Given the description of an element on the screen output the (x, y) to click on. 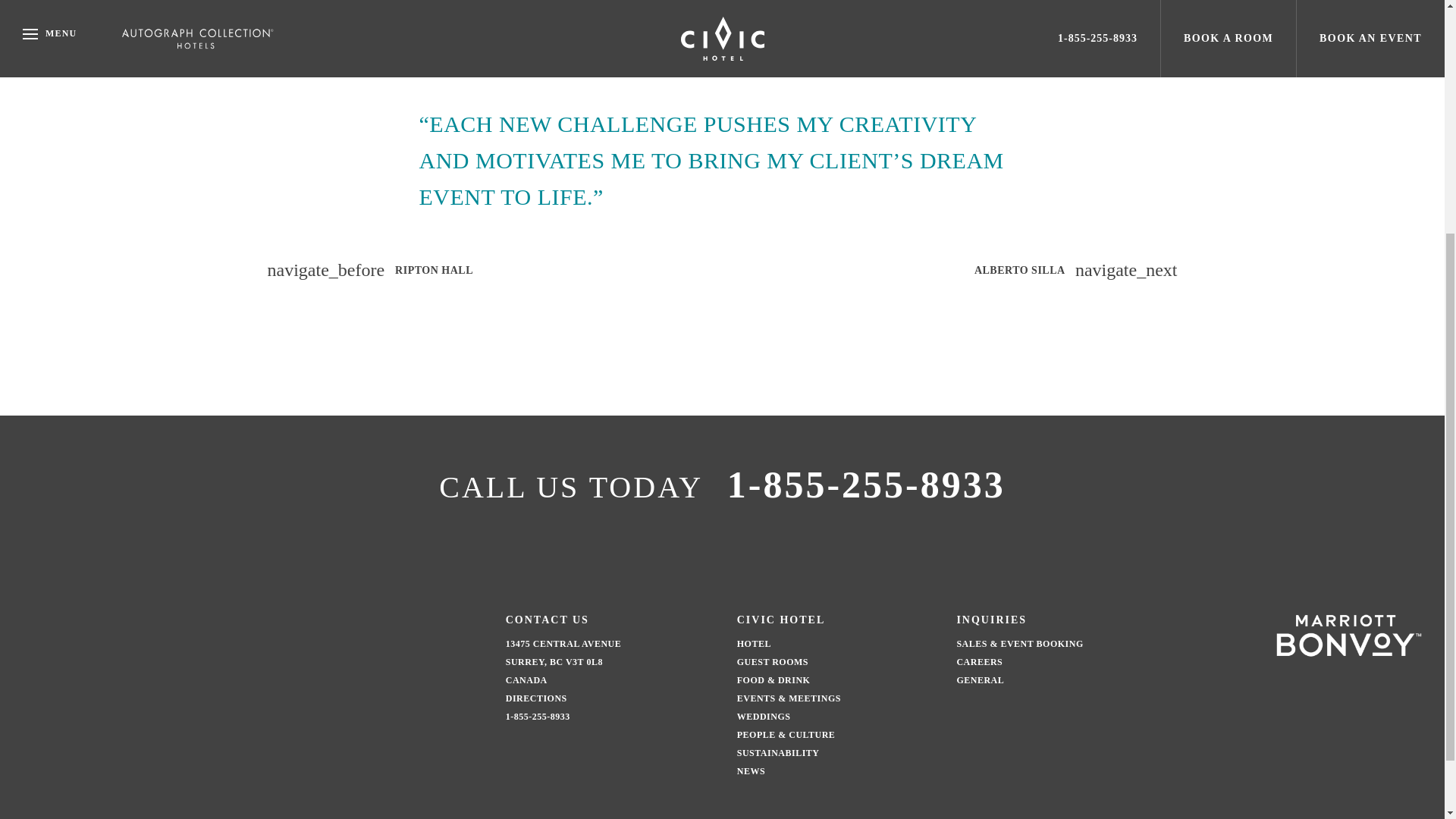
1-855-255-8933 (537, 716)
GUEST ROOMS (772, 661)
GENERAL (980, 679)
SUSTAINABILITY (777, 752)
NEWS (750, 770)
DIRECTIONS (536, 697)
1-855-255-8933 (866, 484)
HOTEL (753, 643)
CAREERS (979, 661)
WEDDINGS (763, 716)
